Given the description of an element on the screen output the (x, y) to click on. 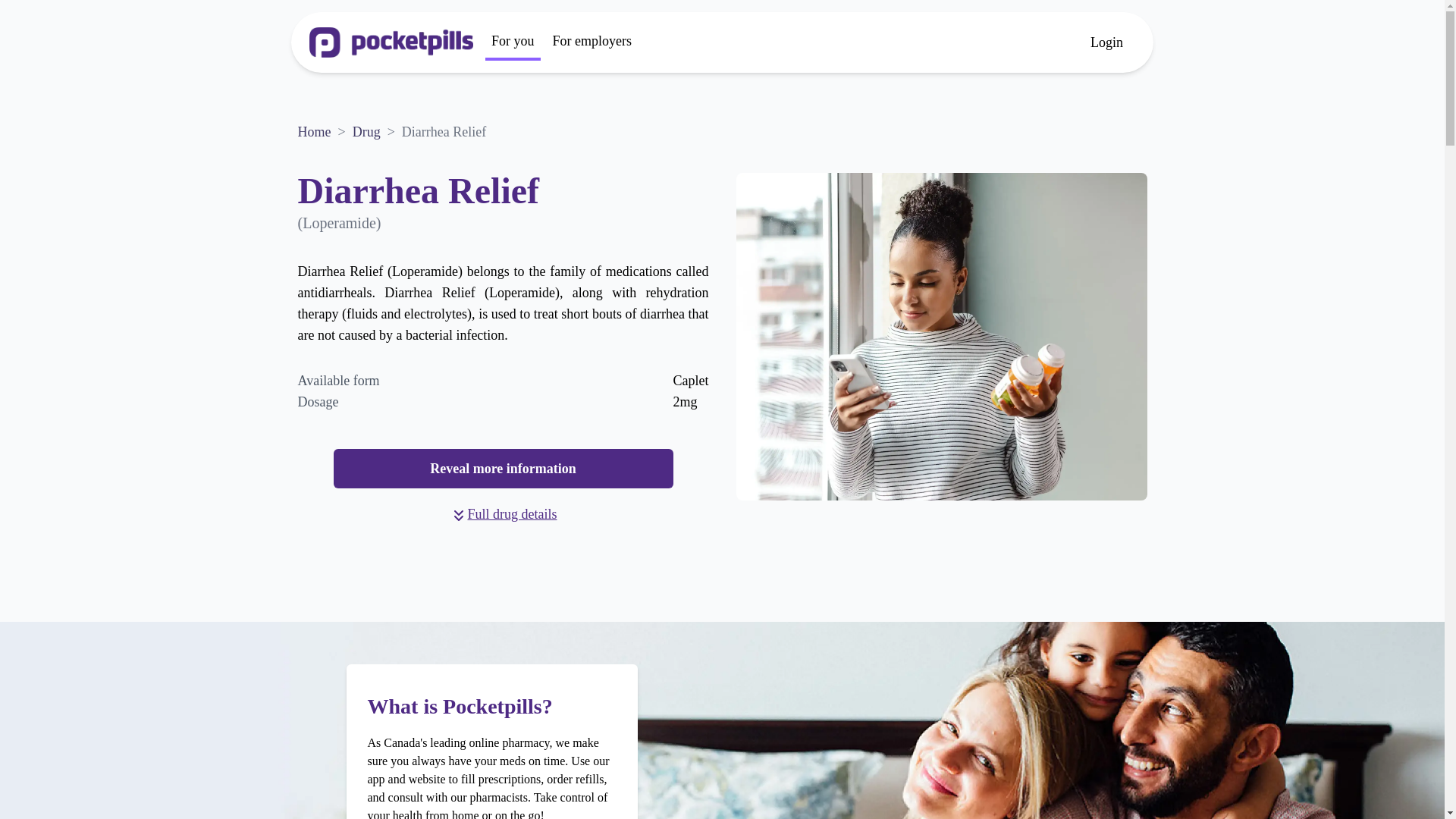
Home (313, 131)
For you (512, 42)
For employers (592, 42)
